Given the description of an element on the screen output the (x, y) to click on. 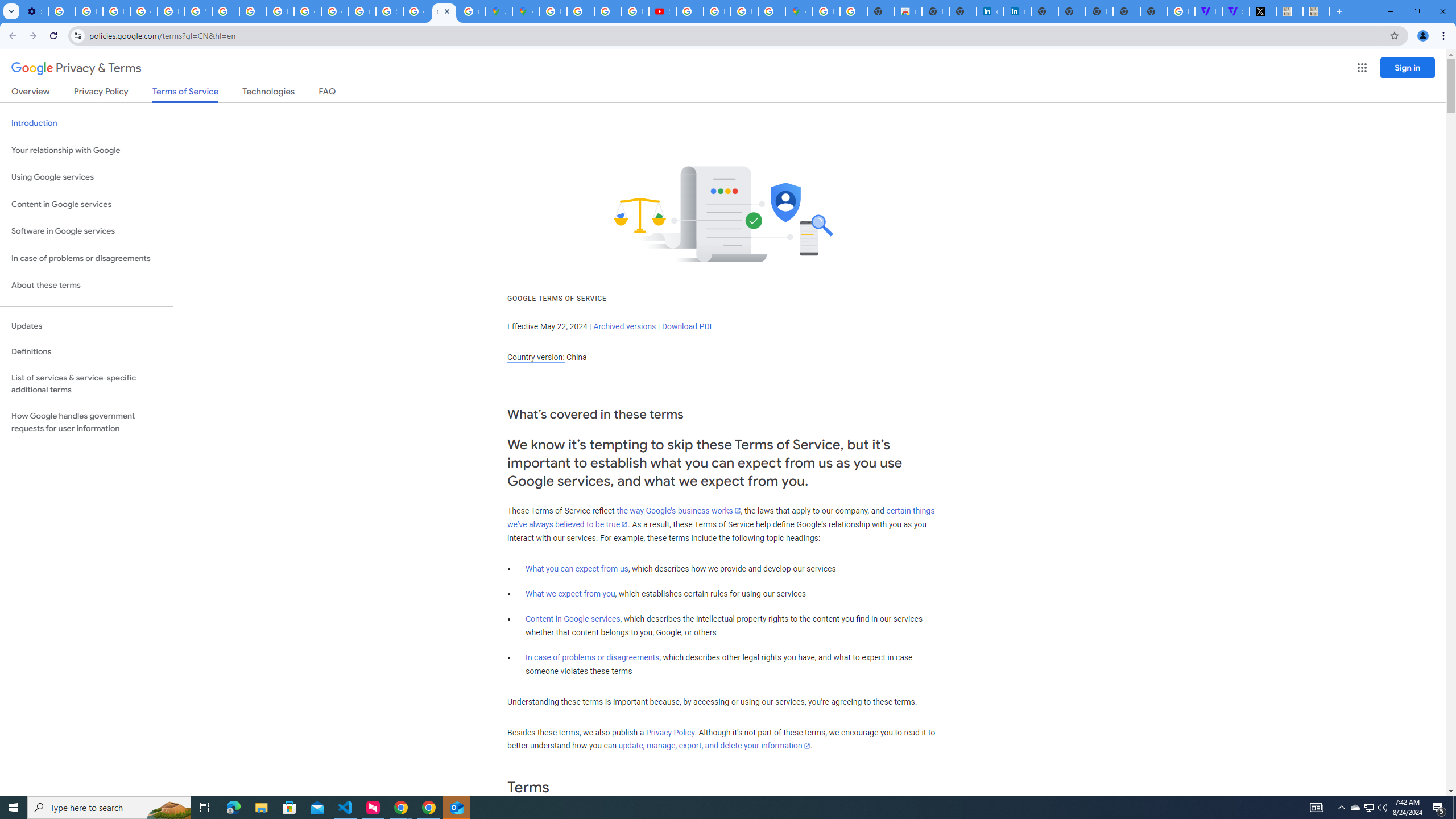
Streaming - The Verge (1236, 11)
Country version: (535, 357)
Privacy Help Center - Policies Help (580, 11)
Software in Google services (86, 230)
What you can expect from us (576, 568)
